Given the description of an element on the screen output the (x, y) to click on. 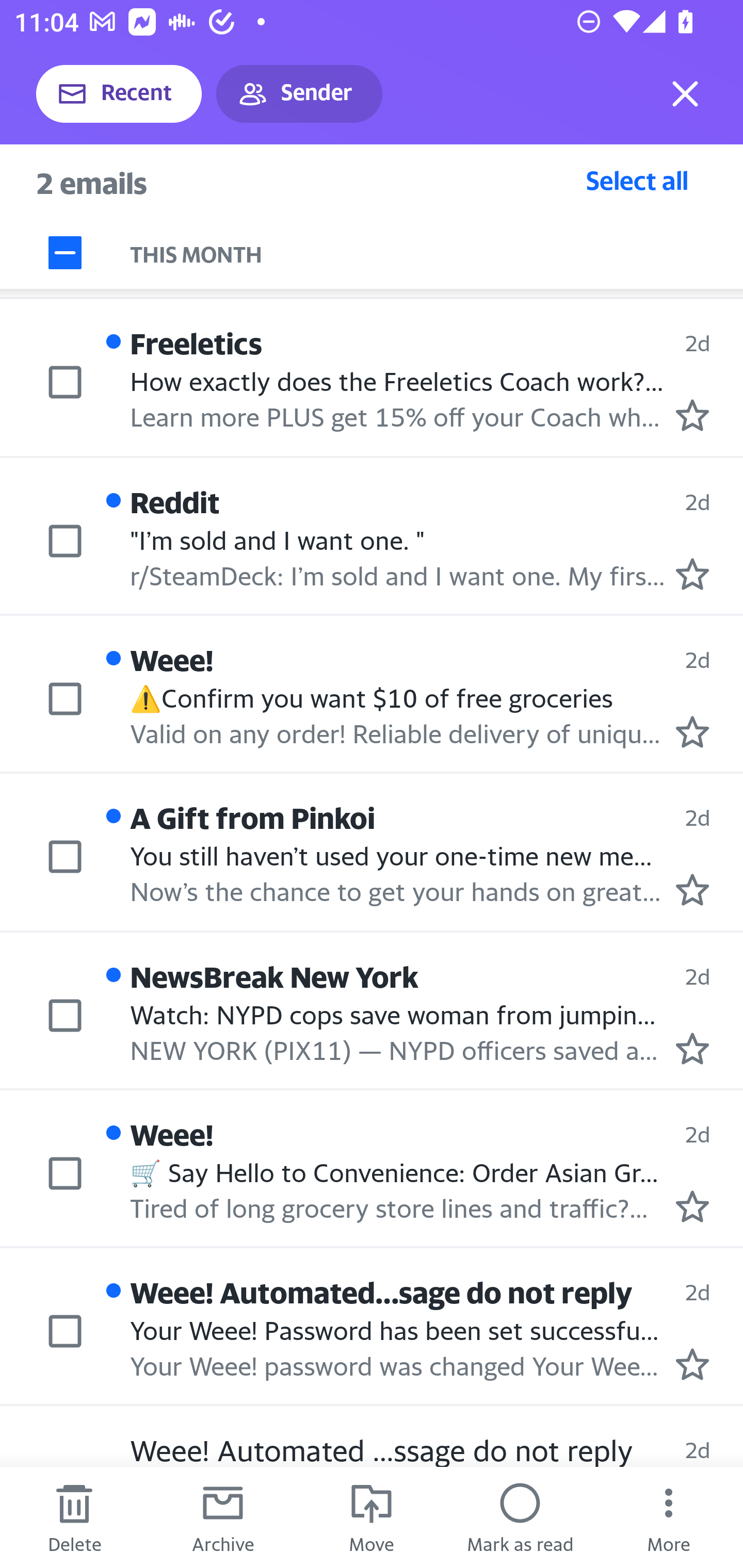
Sender (299, 93)
Exit selection mode (684, 93)
Select all (637, 180)
Mark as starred. (692, 414)
Mark as starred. (692, 574)
Mark as starred. (692, 731)
Mark as starred. (692, 889)
Mark as starred. (692, 1048)
Mark as starred. (692, 1206)
Mark as starred. (692, 1364)
Delete (74, 1517)
Archive (222, 1517)
Move (371, 1517)
Mark as read (519, 1517)
More (668, 1517)
